Given the description of an element on the screen output the (x, y) to click on. 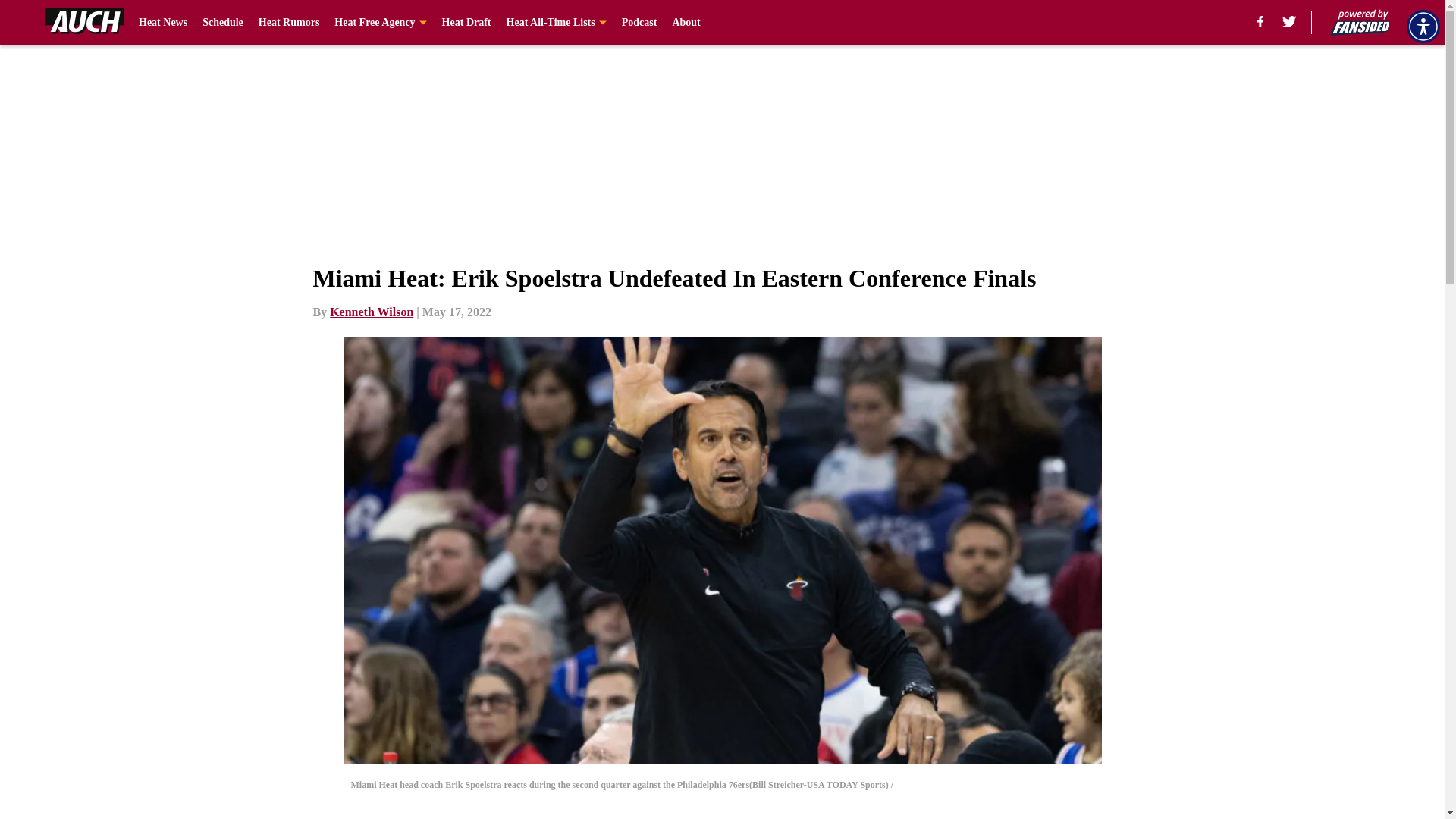
Kenneth Wilson (371, 311)
About (685, 22)
Accessibility Menu (1422, 26)
Schedule (222, 22)
Heat News (162, 22)
Podcast (639, 22)
Heat Rumors (289, 22)
Heat Draft (467, 22)
